Given the description of an element on the screen output the (x, y) to click on. 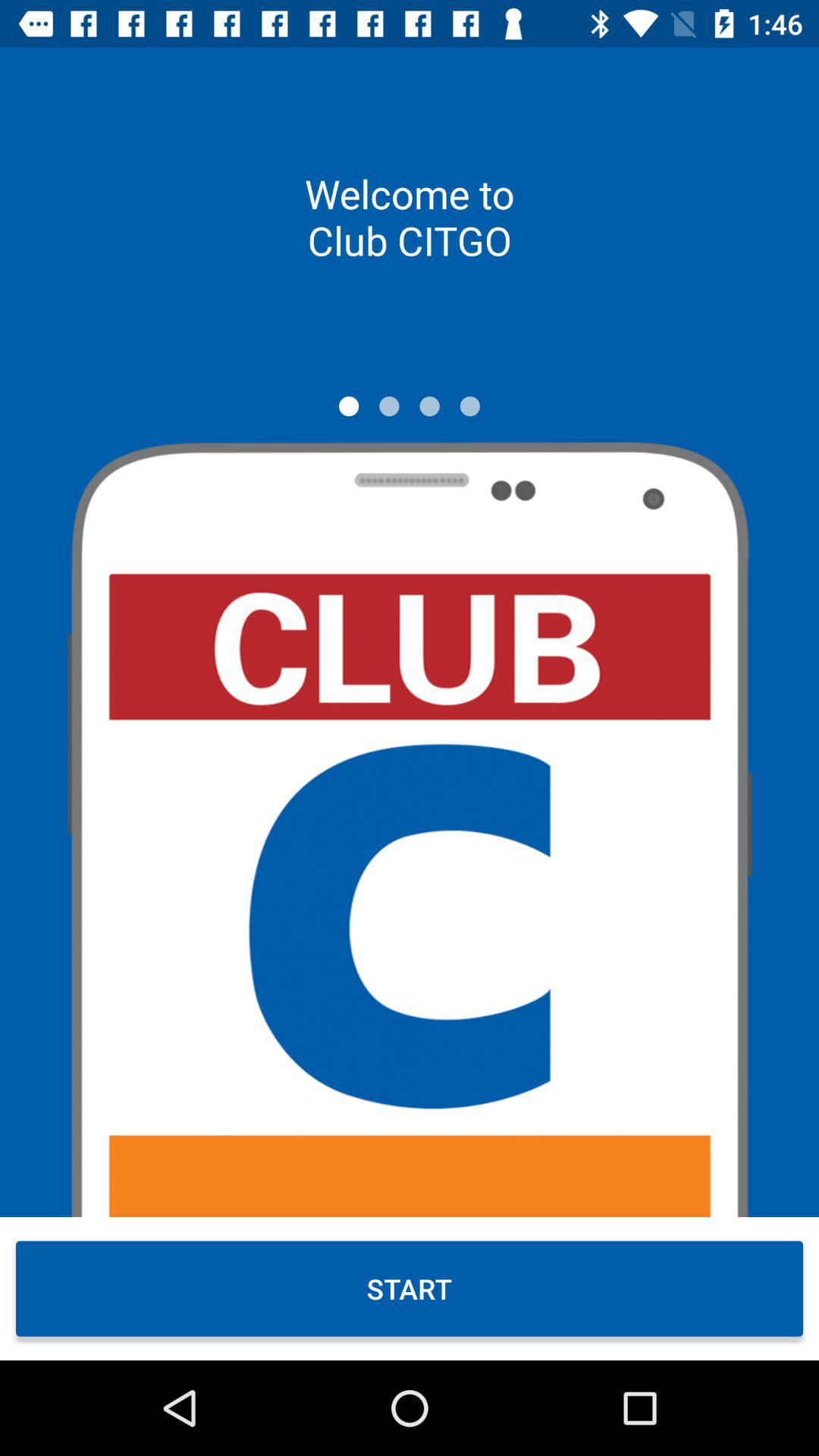
click to more information (470, 406)
